Given the description of an element on the screen output the (x, y) to click on. 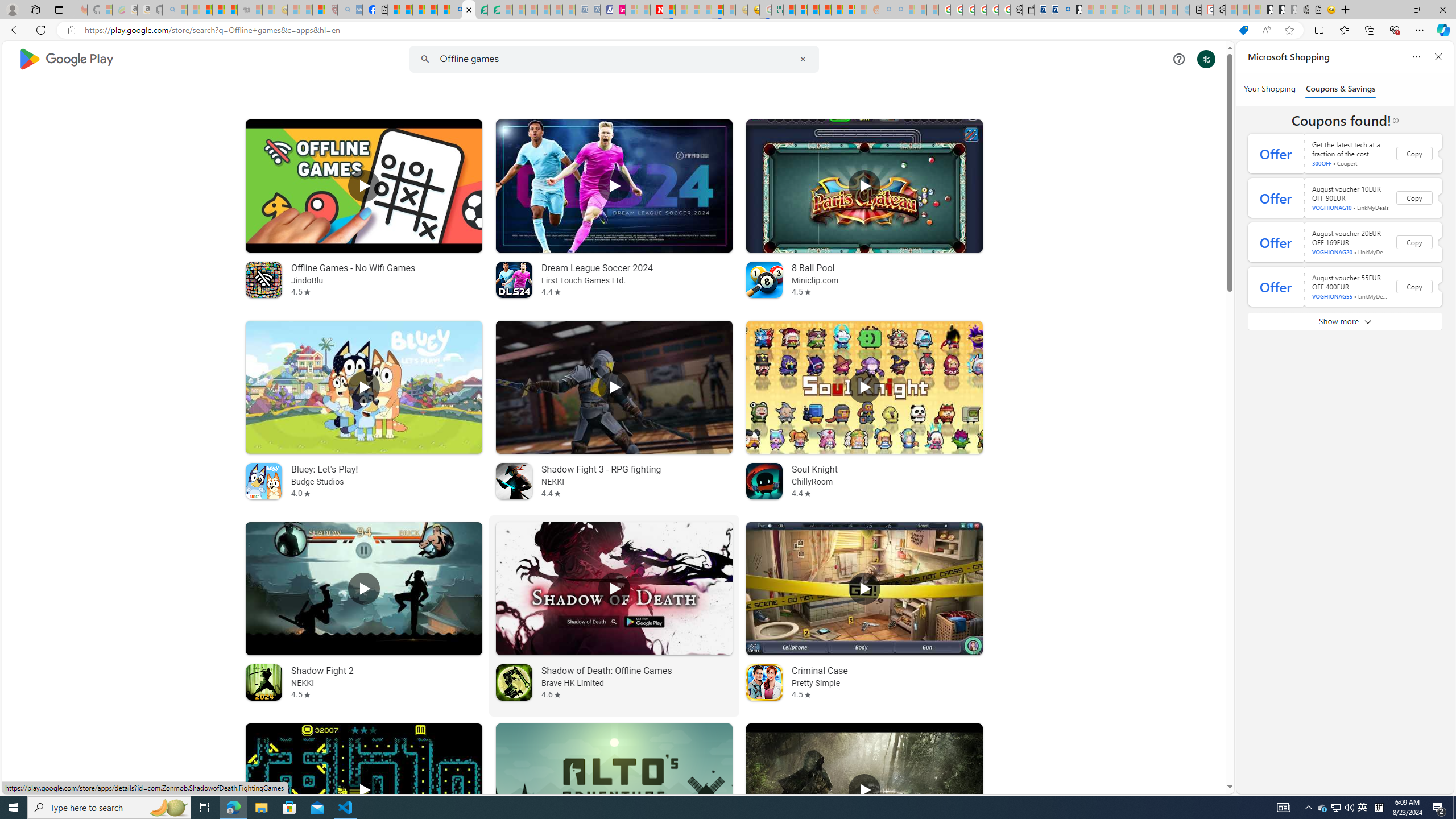
14 Common Myths Debunked By Scientific Facts - Sleeping (682, 9)
Split screen (1318, 29)
App bar (728, 29)
Expert Portfolios (824, 9)
Wallet (1028, 9)
Personal Profile (12, 9)
Combat Siege (243, 9)
